Given the description of an element on the screen output the (x, y) to click on. 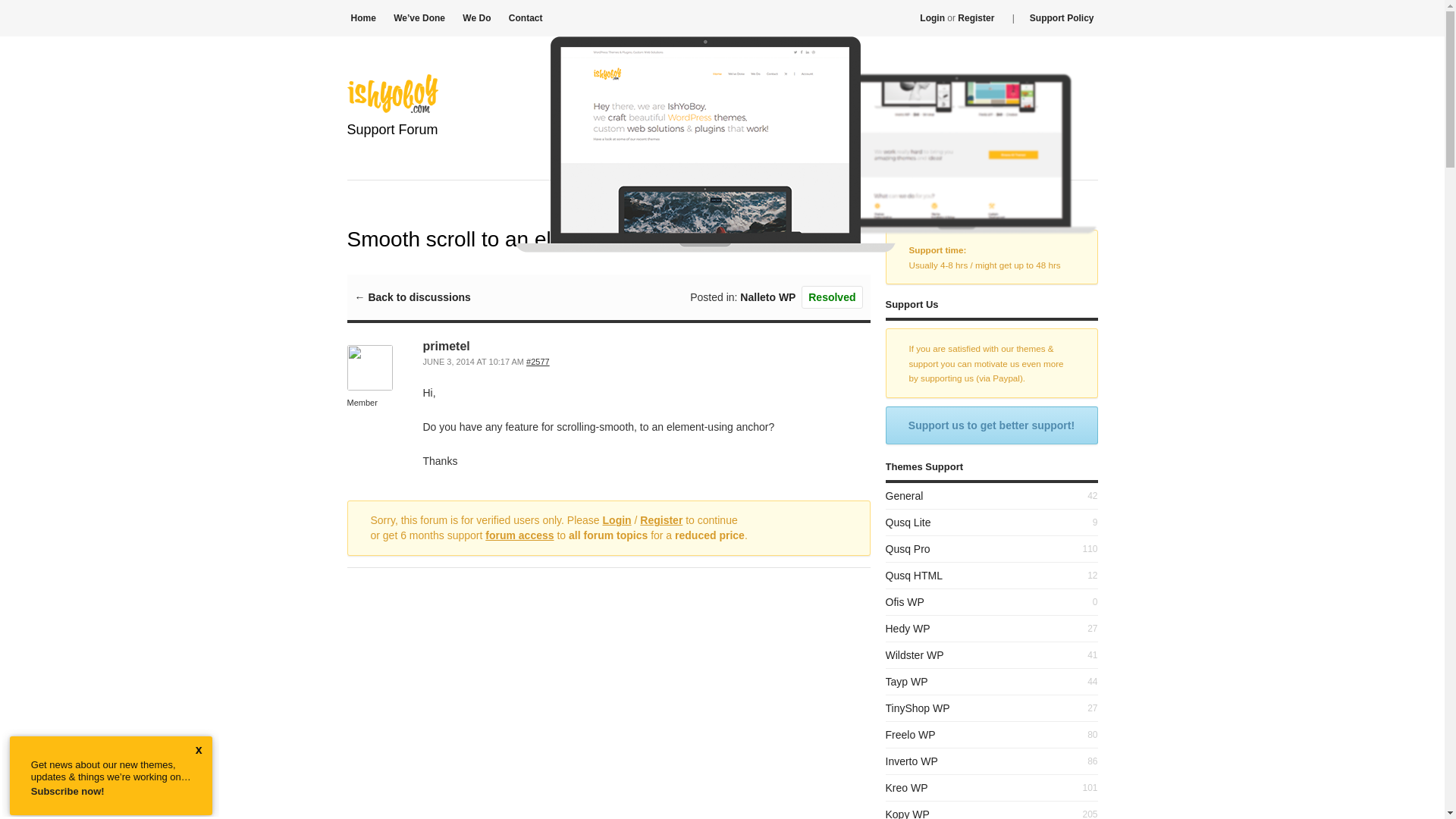
Kreo WP (906, 787)
Tayp WP (906, 681)
forum access (518, 535)
Wildster WP (914, 654)
General (904, 495)
We Do (476, 18)
Kreo WP (906, 787)
Kopy WP (907, 813)
Smooth scroll to an element with anchor link (537, 361)
Wildster WP (914, 654)
Freelo WP (910, 734)
Tayp WP (906, 681)
Login (616, 520)
TinyShop WP (917, 707)
Inverto WP (911, 761)
